Given the description of an element on the screen output the (x, y) to click on. 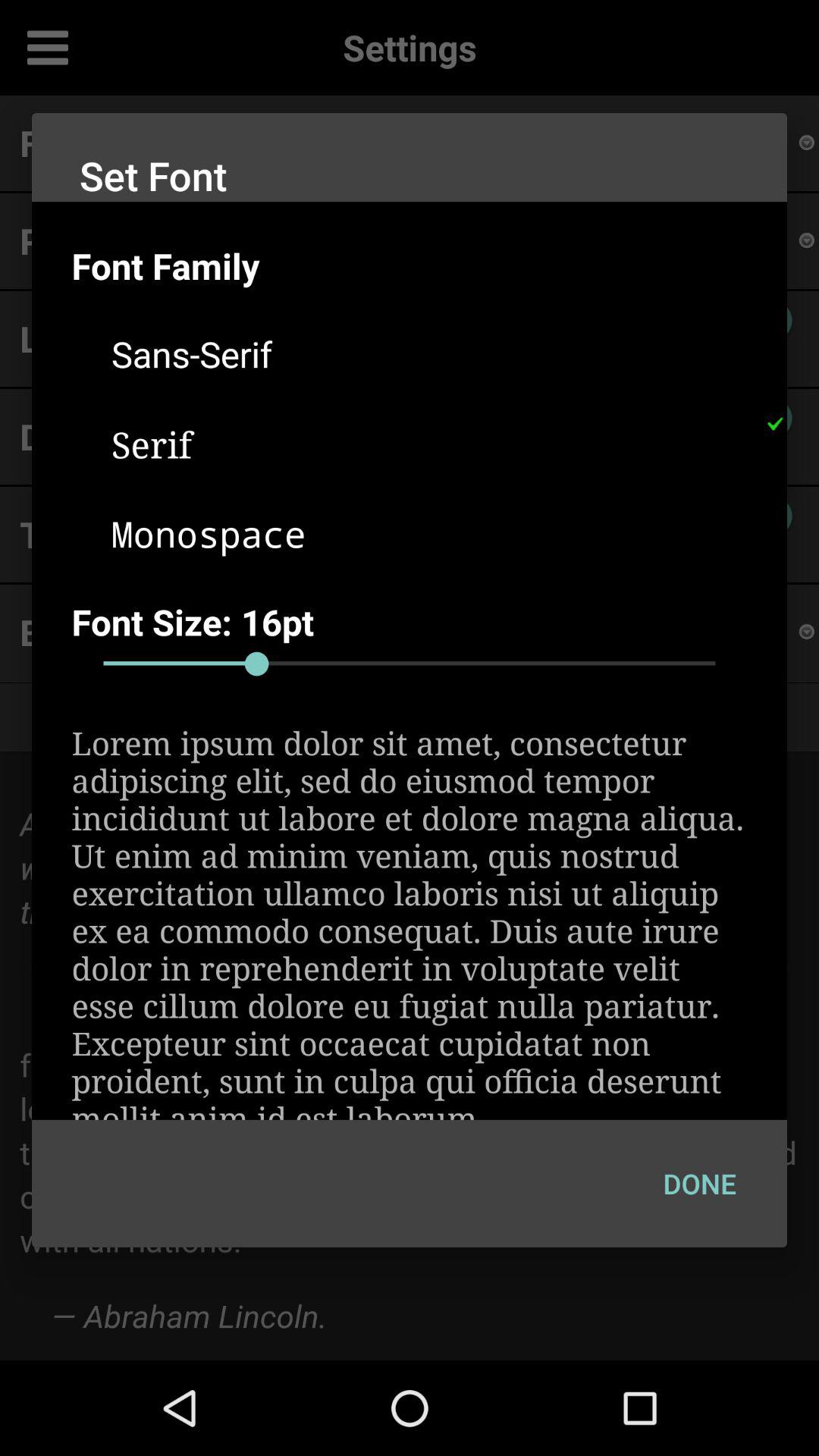
turn on the icon at the bottom right corner (699, 1183)
